Given the description of an element on the screen output the (x, y) to click on. 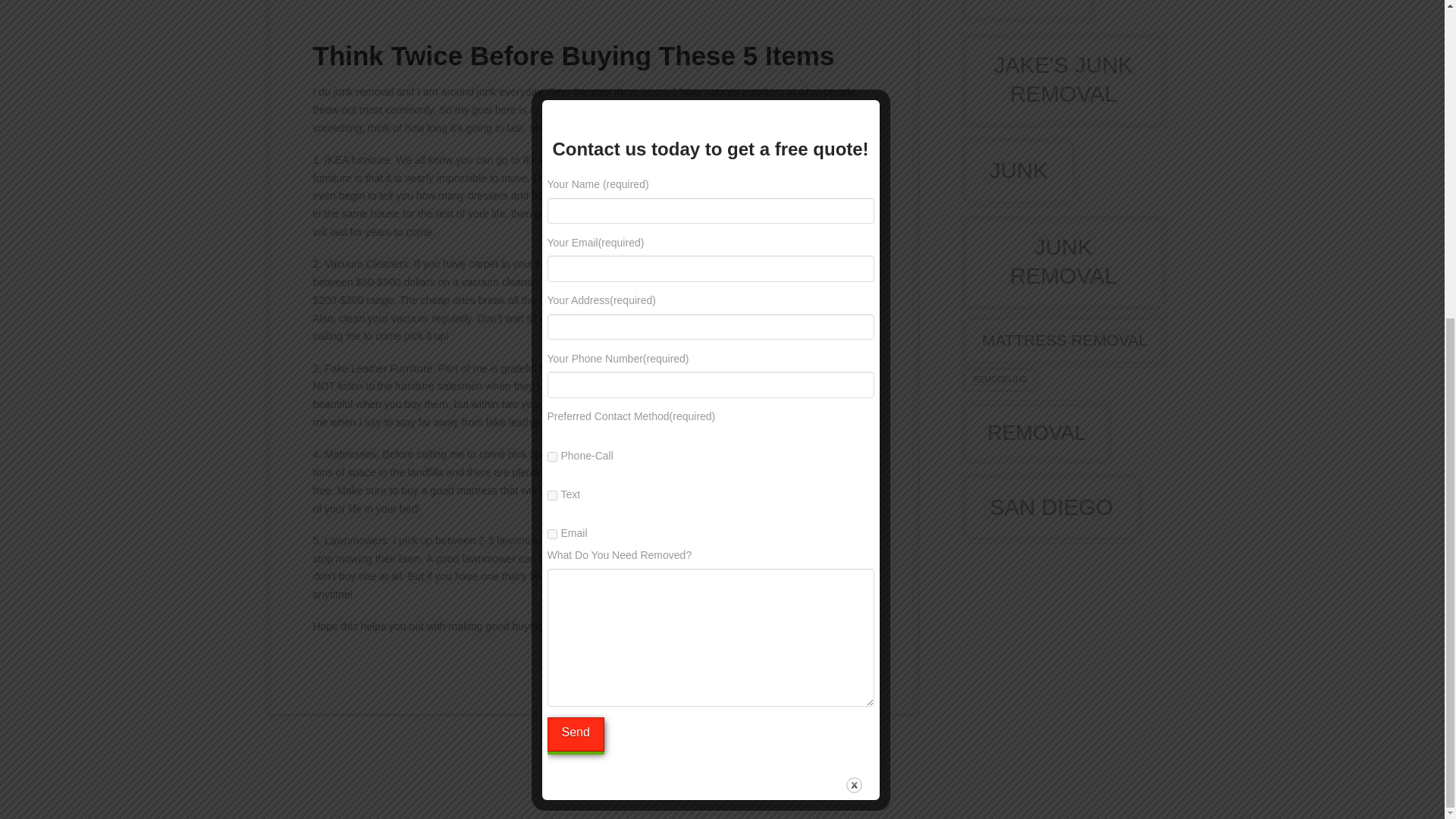
PAY ONLINE (762, 764)
JUNK (1018, 171)
Close (853, 270)
JUNK REMOVAL (1062, 262)
REMOVAL (1035, 433)
REMODELING (999, 380)
Email (552, 20)
Send (575, 220)
JAKE'S JUNK REMOVAL (1062, 80)
EMAIL A PICTURE (680, 764)
PRIVACY POLICY (843, 764)
BOOK ONLINE (592, 764)
CHEAP (1027, 10)
SAN DIEGO (1051, 506)
MATTRESS REMOVAL (1064, 340)
